Given the description of an element on the screen output the (x, y) to click on. 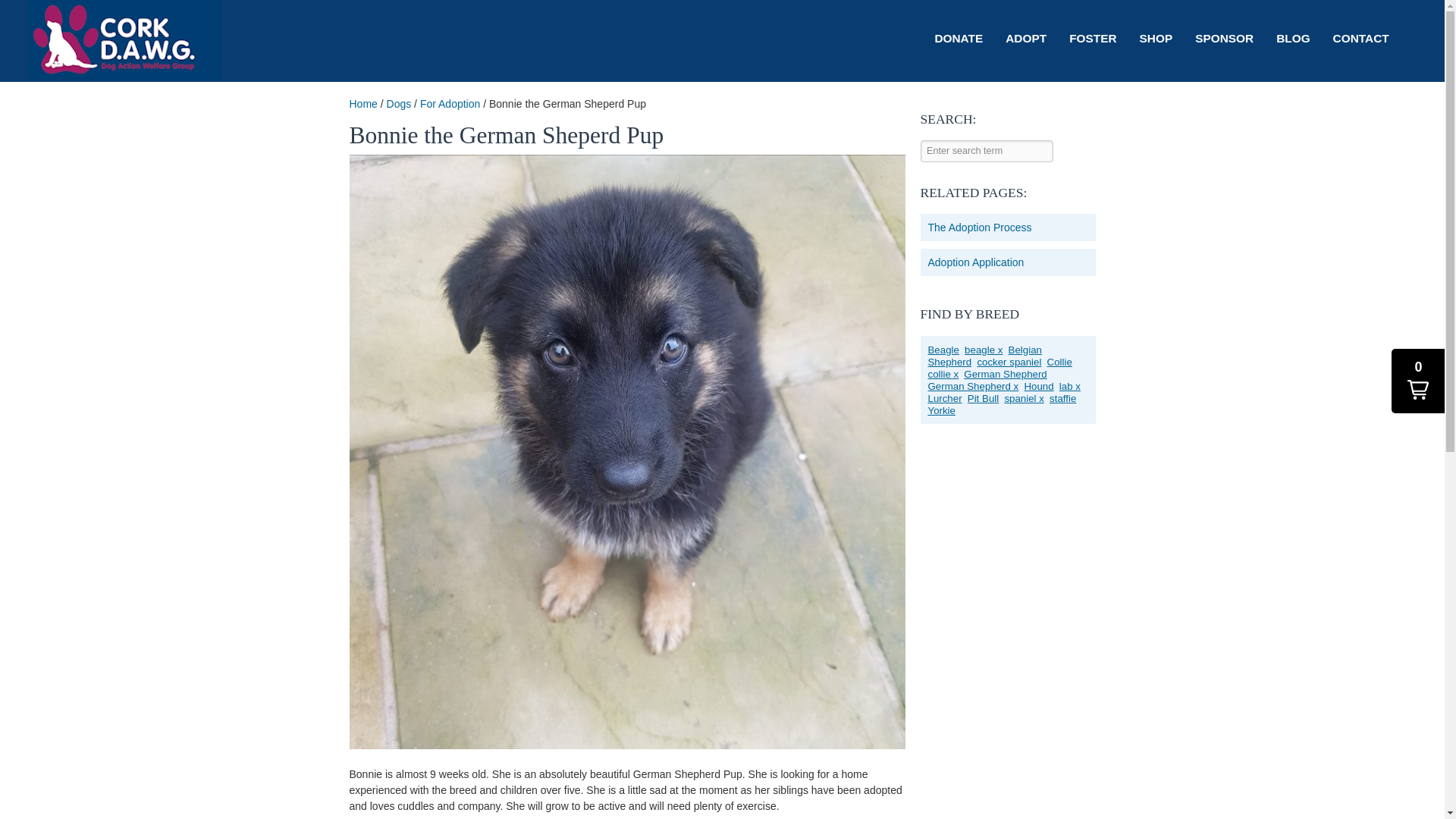
Enter search term (986, 151)
Home (363, 103)
CONTACT (1361, 38)
spaniel x (1025, 398)
Yorkie (943, 410)
FOSTER (1092, 38)
Pit Bull (984, 398)
The Adoption Process (980, 227)
staffie (1063, 398)
Collie (1060, 361)
SHOP (1156, 38)
German Shepherd (1006, 374)
DONATE (958, 38)
lab x (1071, 386)
Beagle (945, 349)
